Given the description of an element on the screen output the (x, y) to click on. 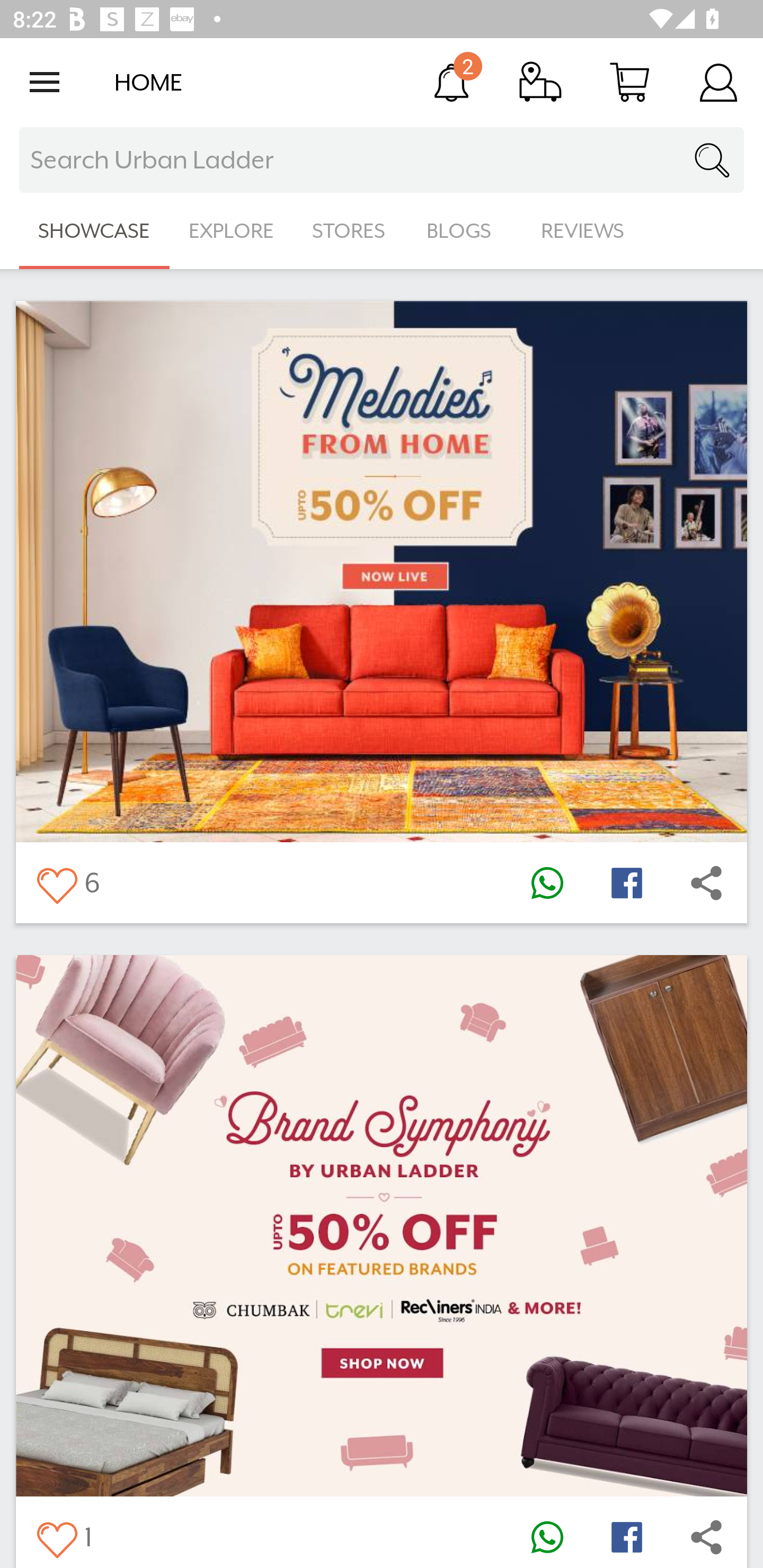
Open navigation drawer (44, 82)
Notification (450, 81)
Track Order (540, 81)
Cart (629, 81)
Account Details (718, 81)
Search Urban Ladder  (381, 159)
SHOWCASE (94, 230)
EXPLORE (230, 230)
STORES (349, 230)
BLOGS (464, 230)
REVIEWS (582, 230)
 (55, 882)
 (547, 882)
 (626, 882)
 (706, 882)
 (55, 1536)
 (547, 1536)
 (626, 1536)
 (706, 1536)
